Given the description of an element on the screen output the (x, y) to click on. 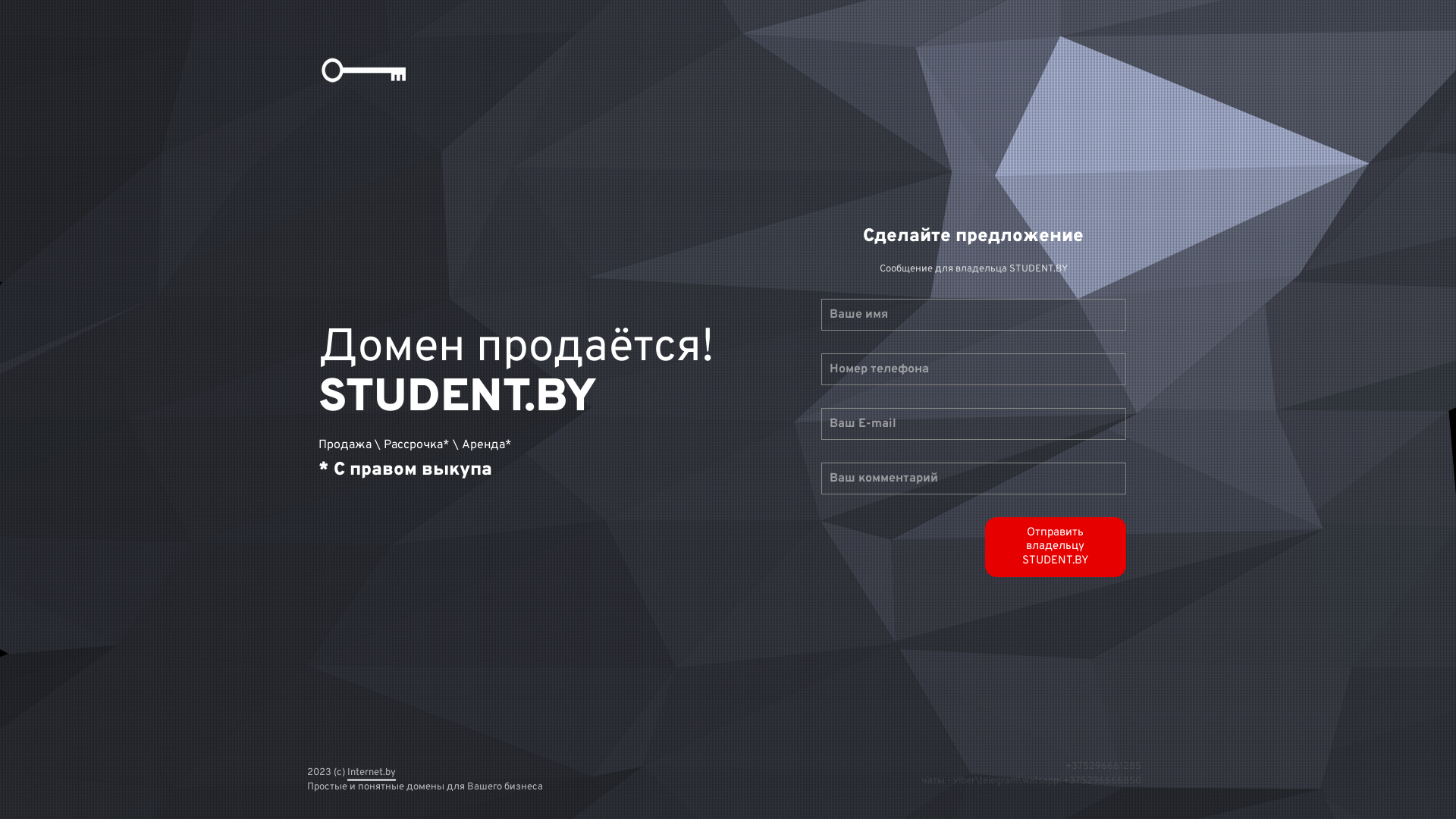
Internet.by Element type: text (371, 770)
LiveInternet Element type: hover (0, 6)
+375296661285 Element type: text (1103, 766)
